Given the description of an element on the screen output the (x, y) to click on. 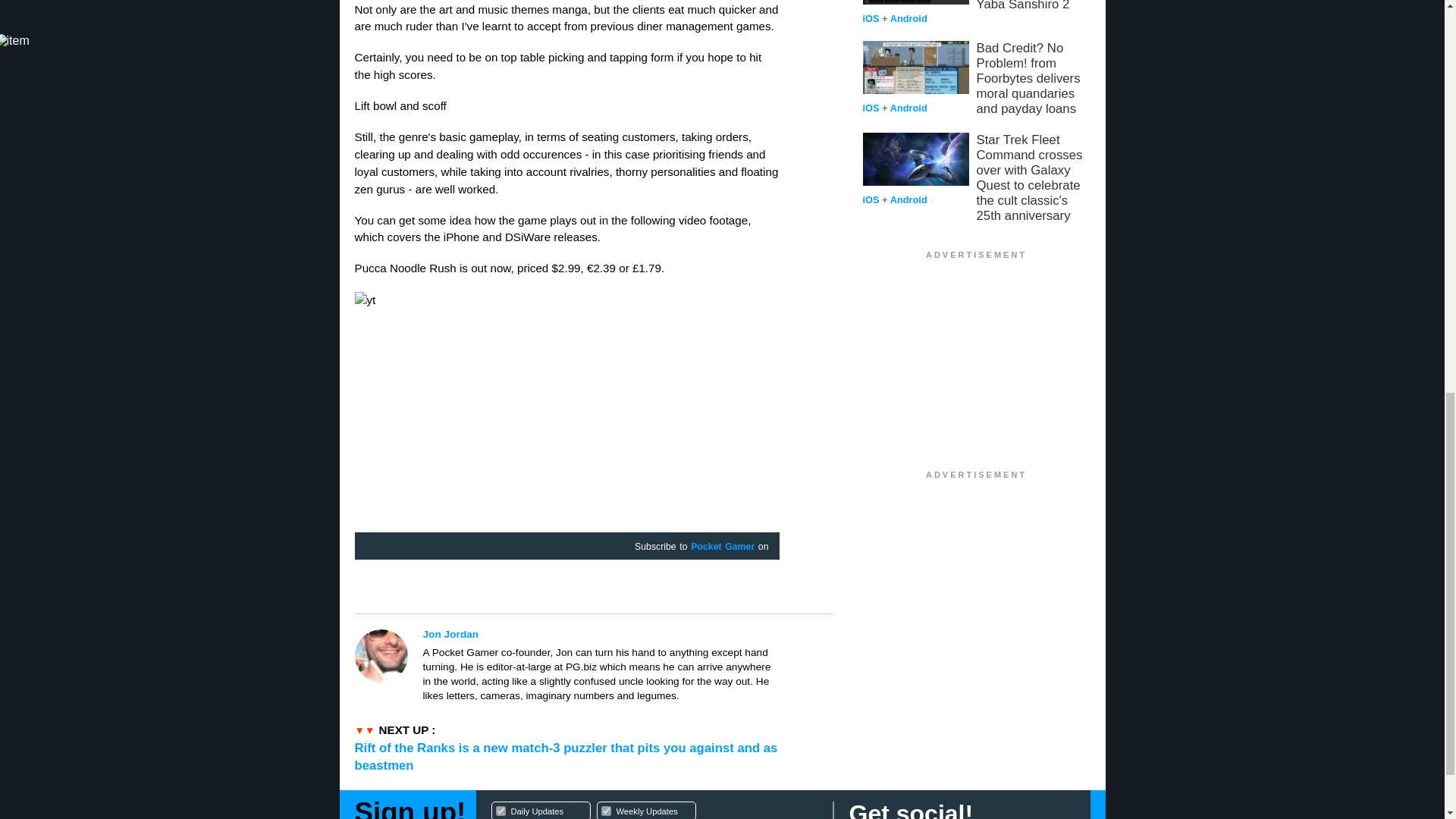
Jon Jordan (654, 808)
2 (600, 634)
Pocket Gamer (604, 810)
1 (722, 547)
